Given the description of an element on the screen output the (x, y) to click on. 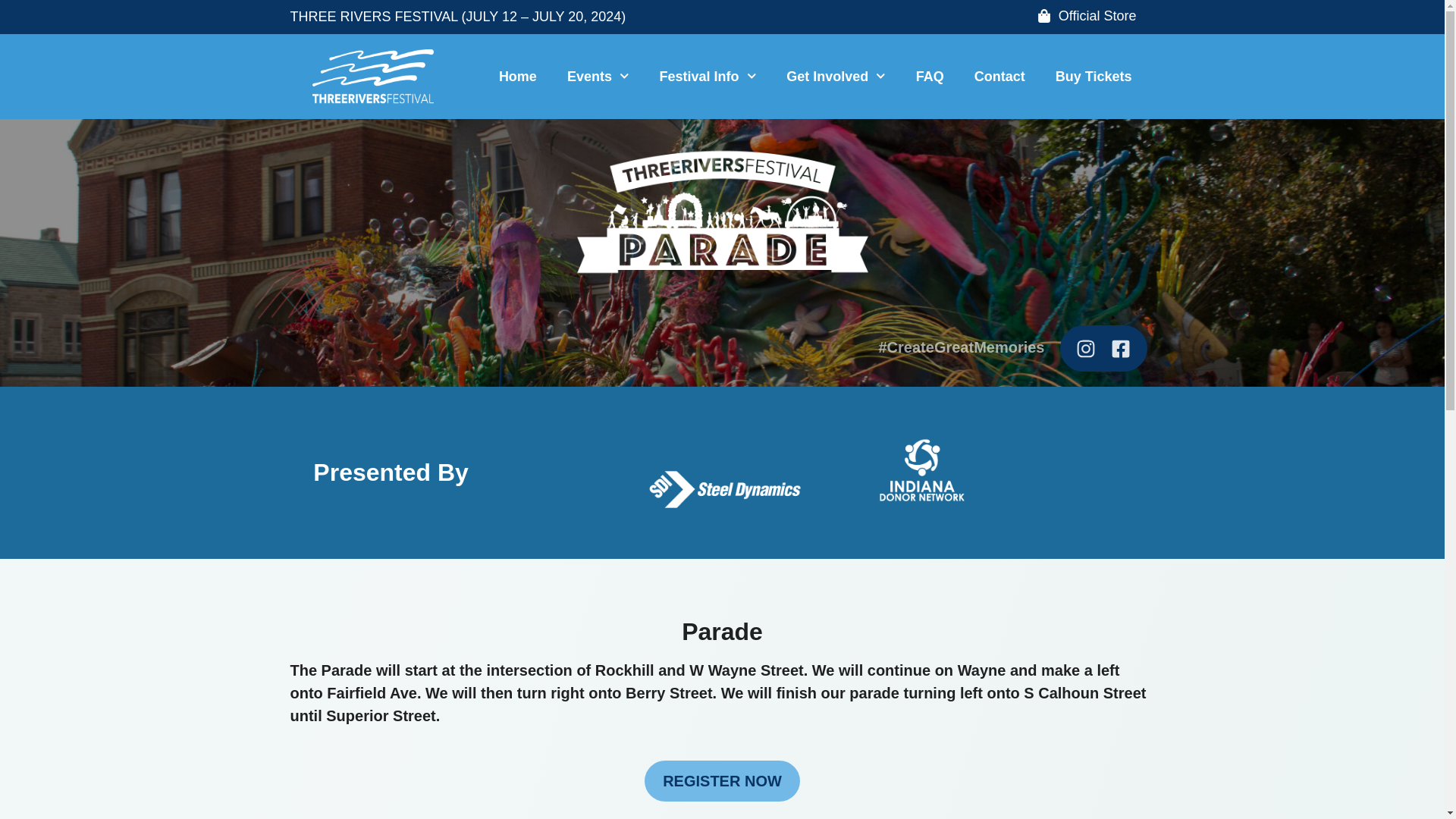
Festival Info (708, 76)
FAQ (930, 76)
Events (598, 76)
Contact (1000, 76)
Buy Tickets (1094, 76)
Official Store (1086, 17)
Home (517, 76)
Get Involved (836, 76)
